Given the description of an element on the screen output the (x, y) to click on. 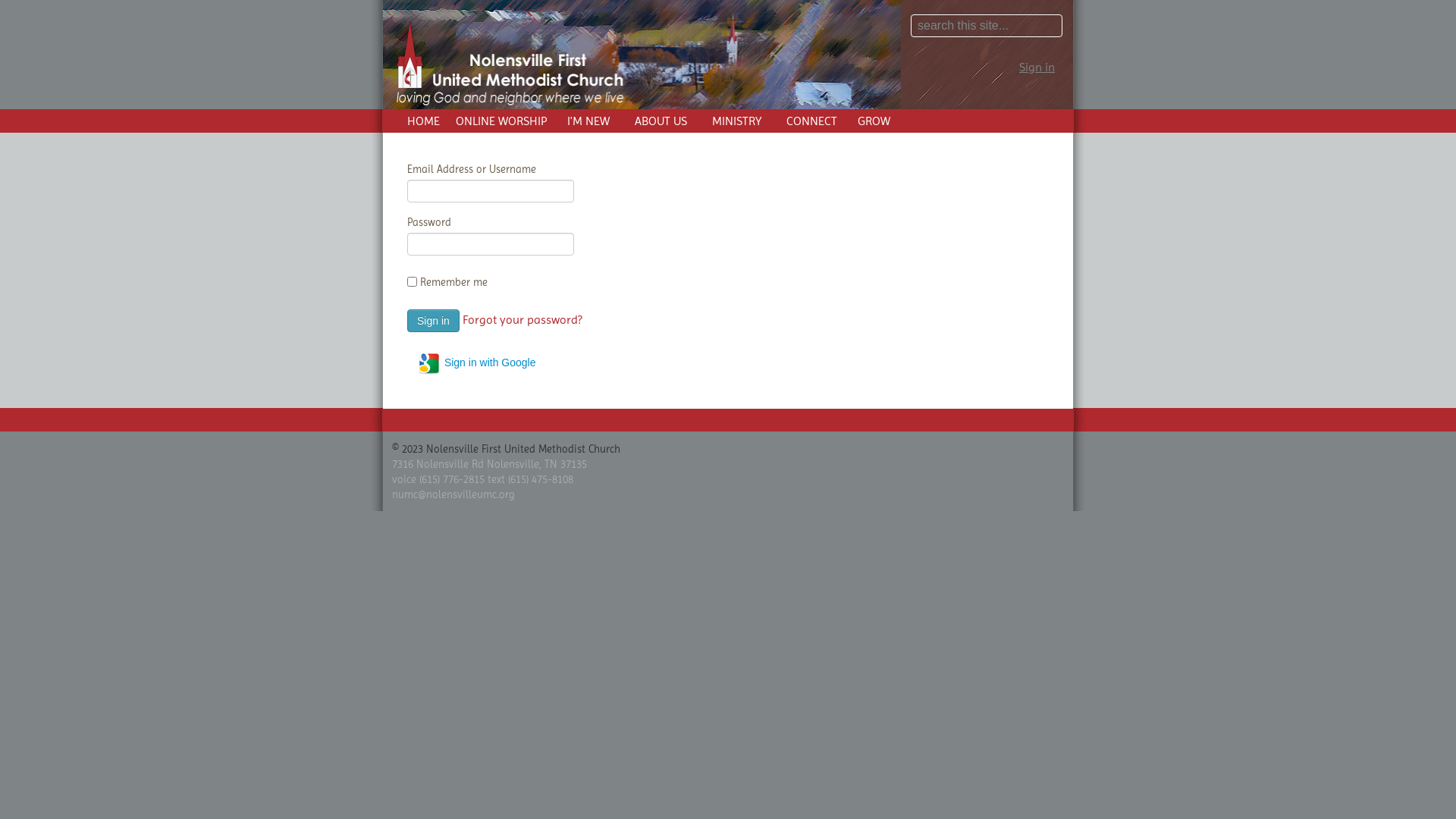
7316 Nolensville Rd Nolensville, TN 37135 Element type: text (489, 464)
numc@nolensvilleumc.org Element type: text (453, 494)
ONLINE WORSHIP Element type: text (500, 120)
CONNECT Element type: text (811, 120)
Sign in with Google Element type: text (476, 363)
I'M NEW Element type: text (588, 120)
voice (615) 776-2815 text (615) 475-8108 Element type: text (482, 479)
Forgot your password? Element type: text (522, 319)
Sign in Element type: text (433, 320)
HOME Element type: text (423, 120)
GROW Element type: text (873, 120)
MINISTRY Element type: text (736, 120)
ABOUT US Element type: text (660, 120)
Sign in Element type: text (1036, 66)
